Given the description of an element on the screen output the (x, y) to click on. 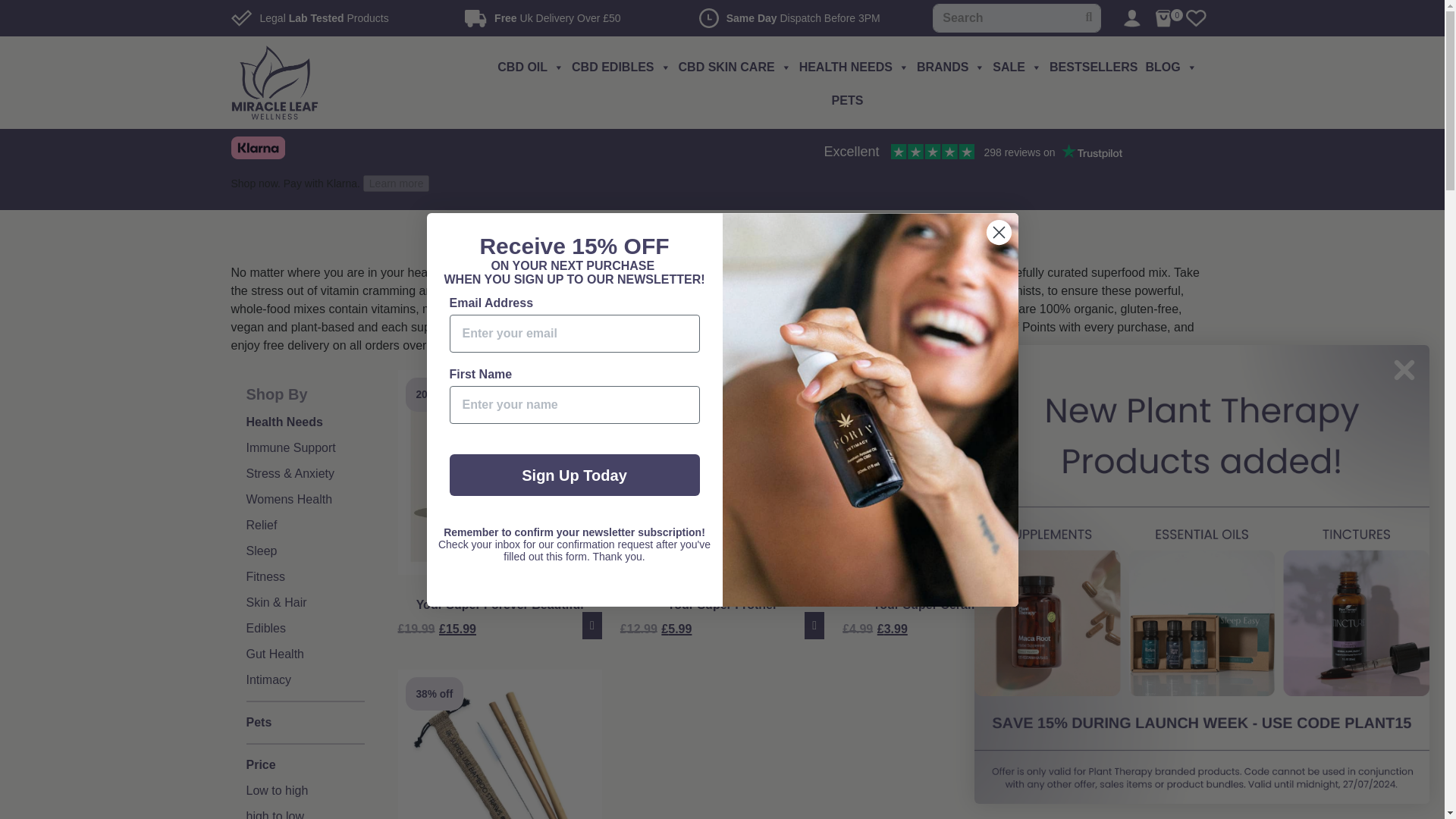
Close dialog 1 (1404, 370)
Customer reviews powered by Trustpilot (971, 151)
Close dialog 2 (998, 231)
